Given the description of an element on the screen output the (x, y) to click on. 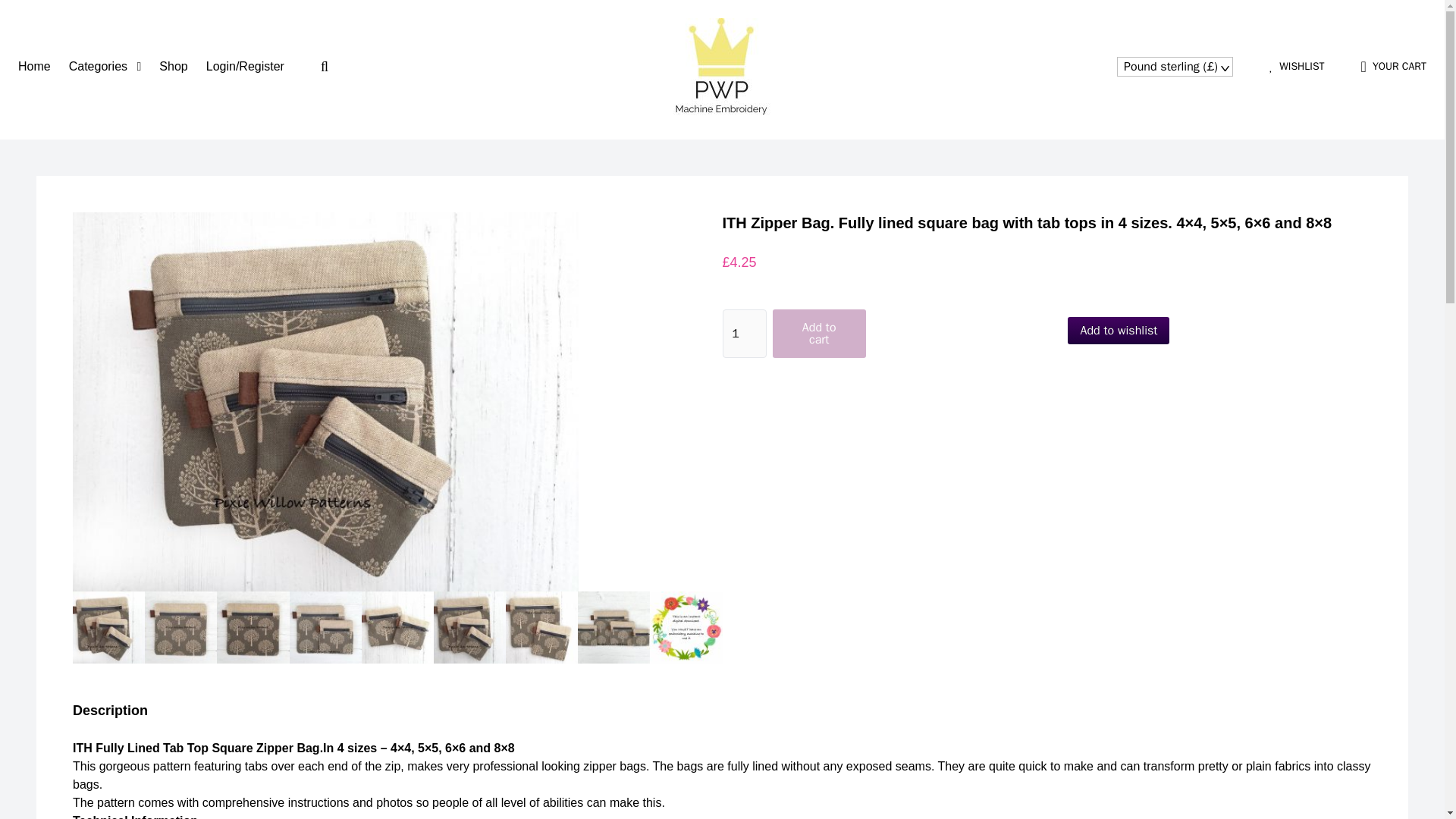
Categories (104, 65)
Home (33, 65)
1 (743, 333)
View your shopping cart (1393, 66)
Shop (172, 65)
Qty (743, 333)
